Given the description of an element on the screen output the (x, y) to click on. 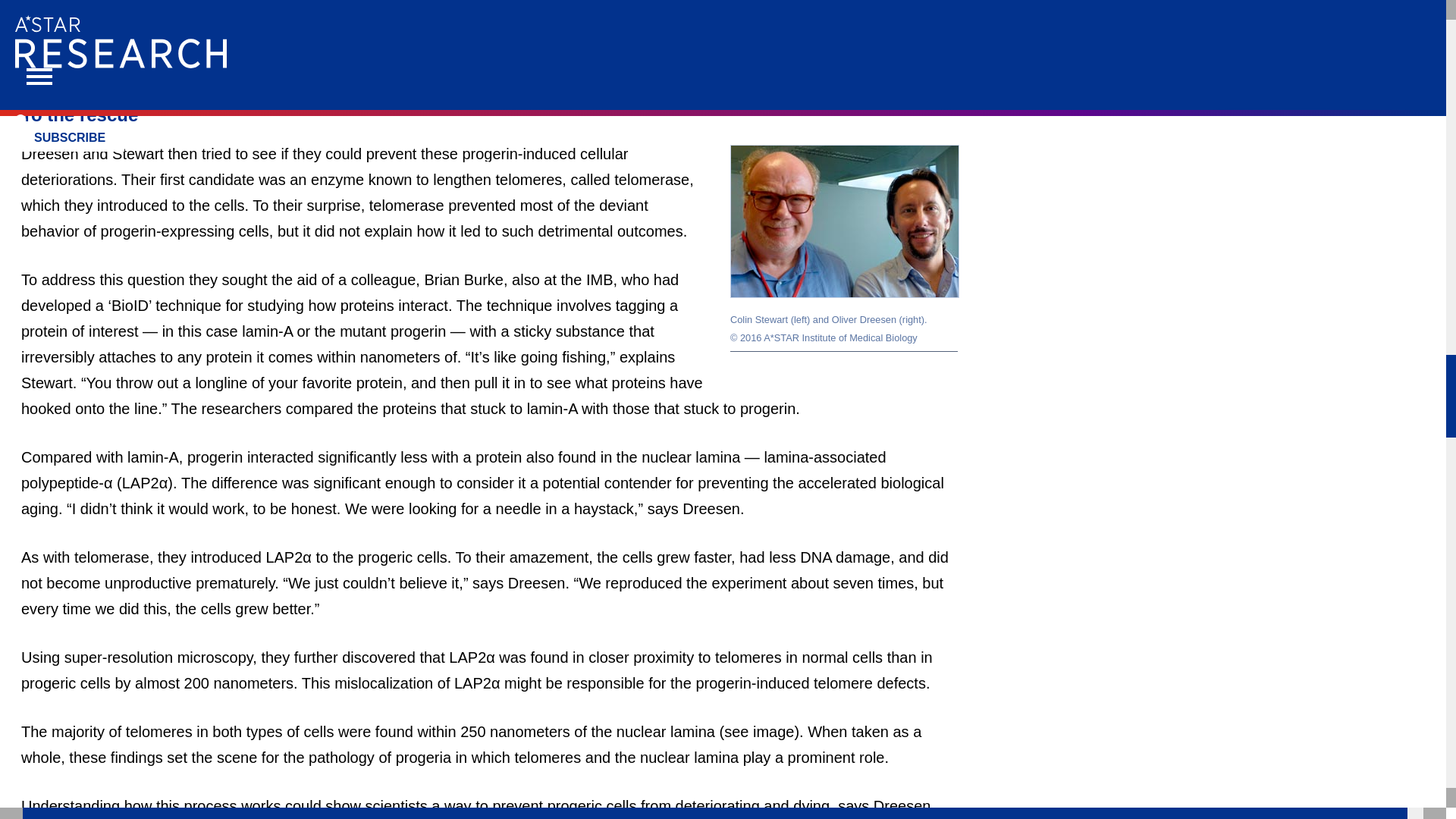
copyright (844, 338)
caption (844, 319)
